Given the description of an element on the screen output the (x, y) to click on. 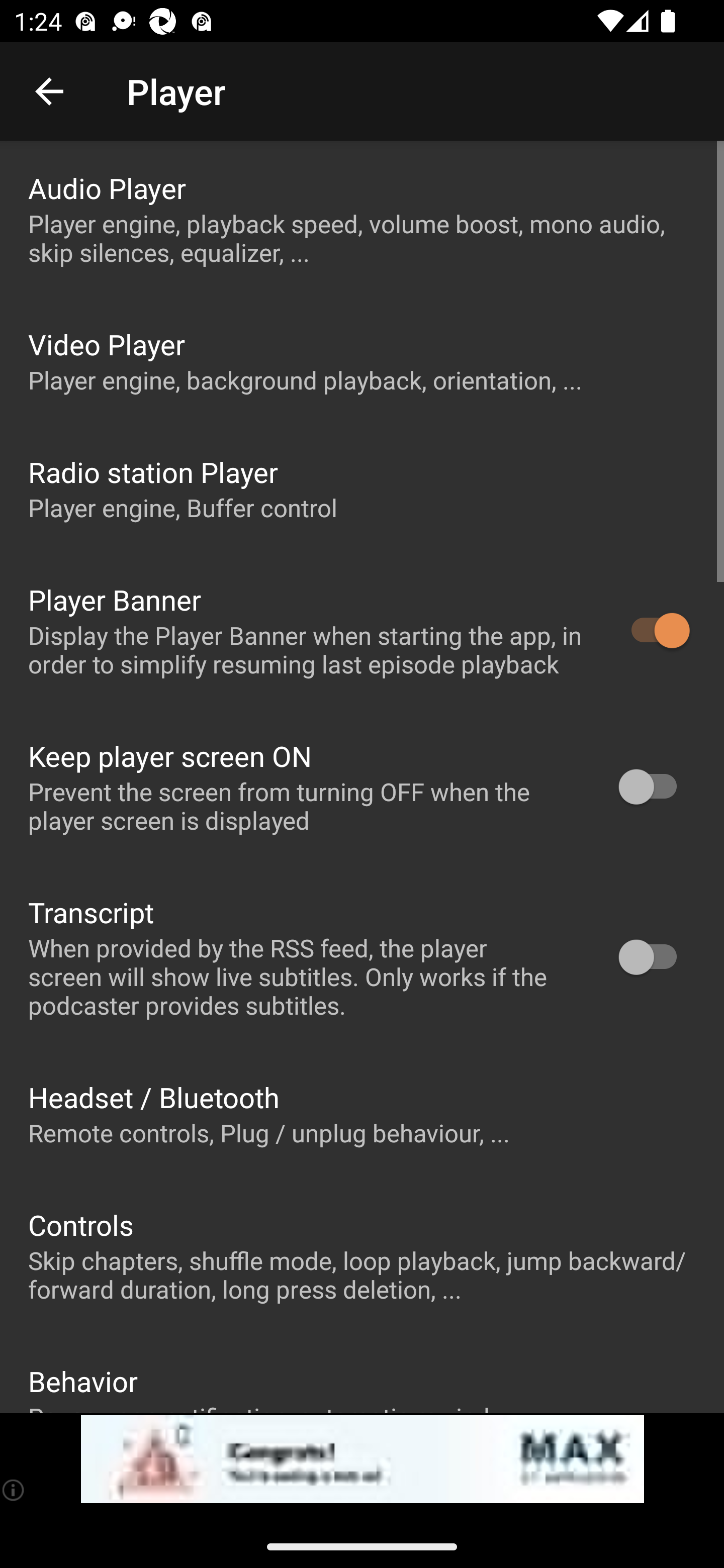
Navigate up (49, 91)
Radio station Player Player engine, Buffer control (362, 487)
app-monetization (362, 1459)
(i) (14, 1489)
